Given the description of an element on the screen output the (x, y) to click on. 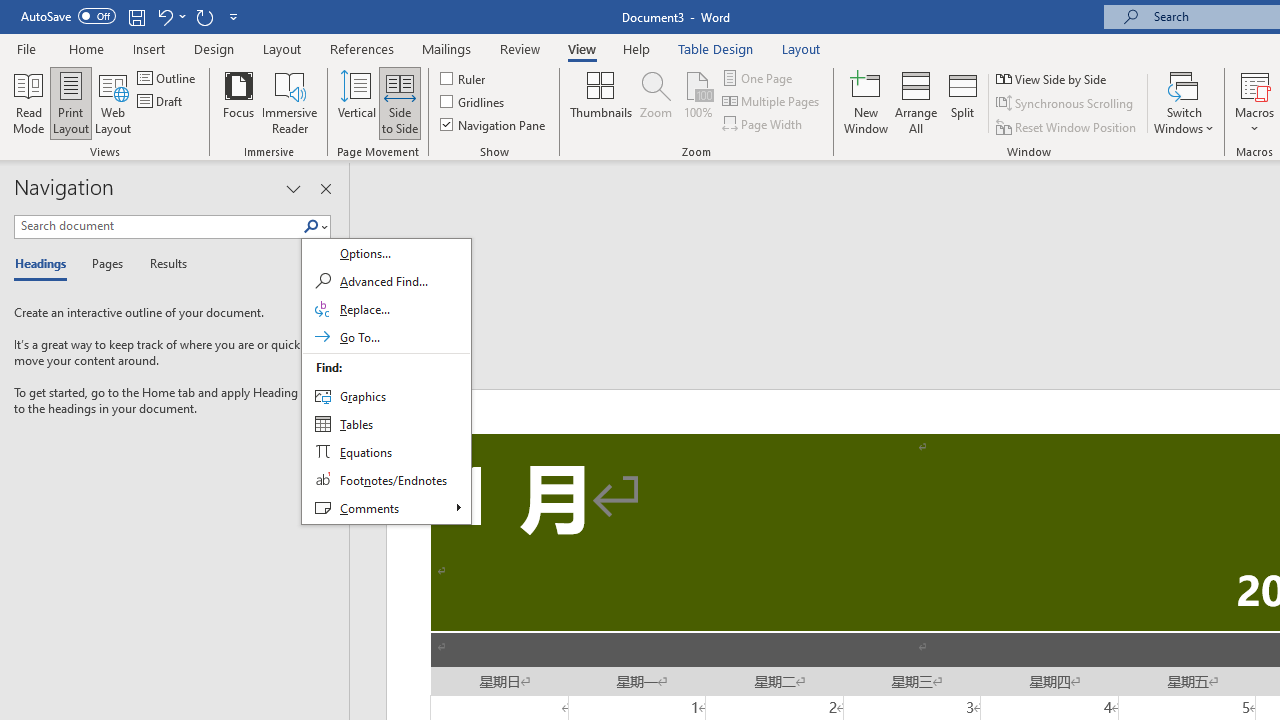
Layout (801, 48)
Gridlines (473, 101)
Home (86, 48)
Search document (157, 226)
Zoom... (655, 102)
Undo Increase Indent (170, 15)
View (582, 48)
AutoSave (68, 16)
100% (698, 102)
Search (386, 381)
Search (315, 227)
Switch Windows (1184, 102)
Thumbnails (601, 102)
View Side by Side (1053, 78)
